Given the description of an element on the screen output the (x, y) to click on. 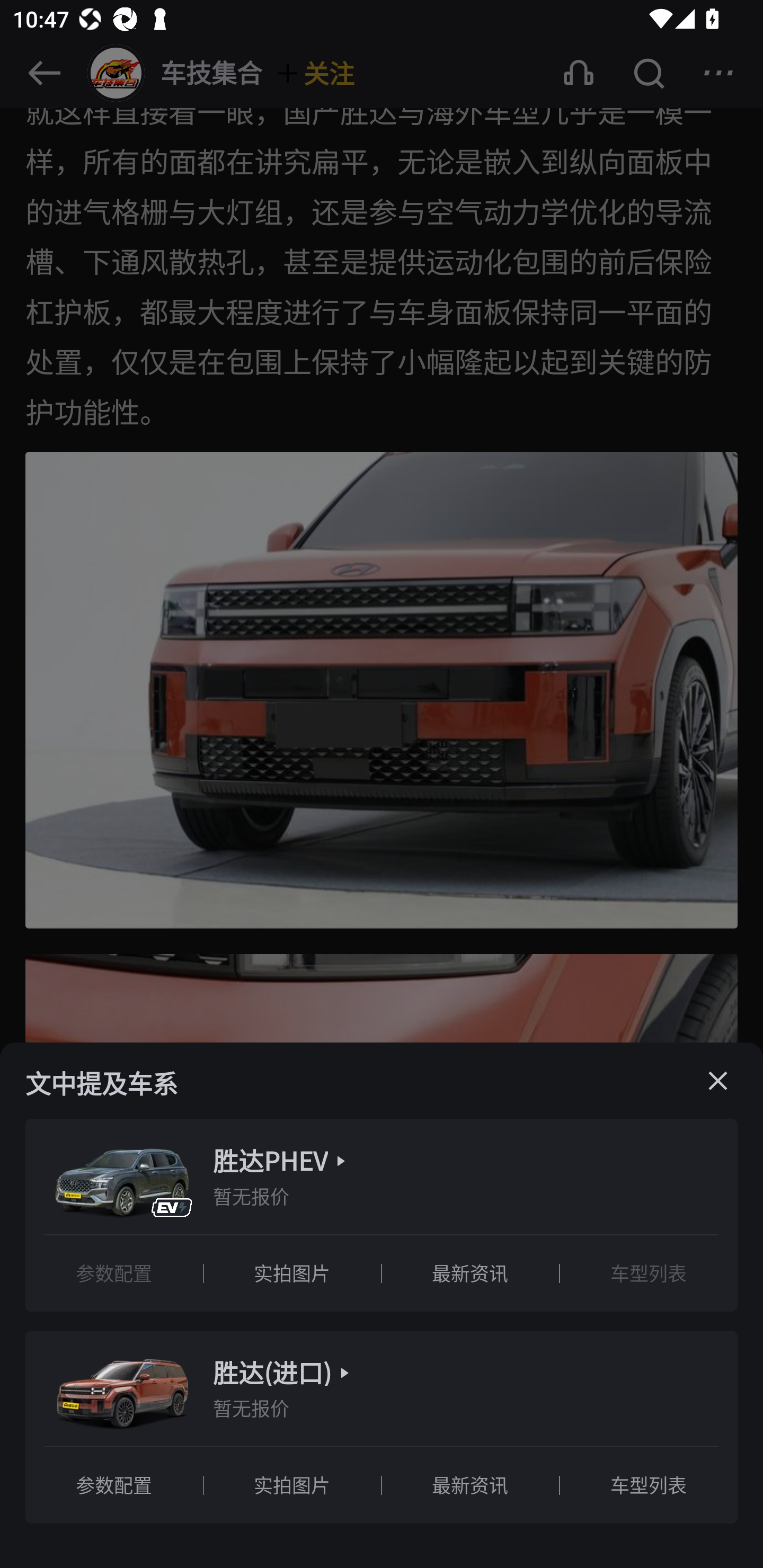
胜达PHEV  暂无报价 参数配置 实拍图片 最新资讯 车型列表 (381, 1214)
参数配置 (113, 1273)
实拍图片 (291, 1273)
最新资讯 (470, 1273)
车型列表 (648, 1273)
胜达(进口)  暂无报价 参数配置 实拍图片 最新资讯 车型列表 (381, 1427)
参数配置 (113, 1484)
实拍图片 (291, 1484)
最新资讯 (470, 1484)
车型列表 (648, 1484)
